Given the description of an element on the screen output the (x, y) to click on. 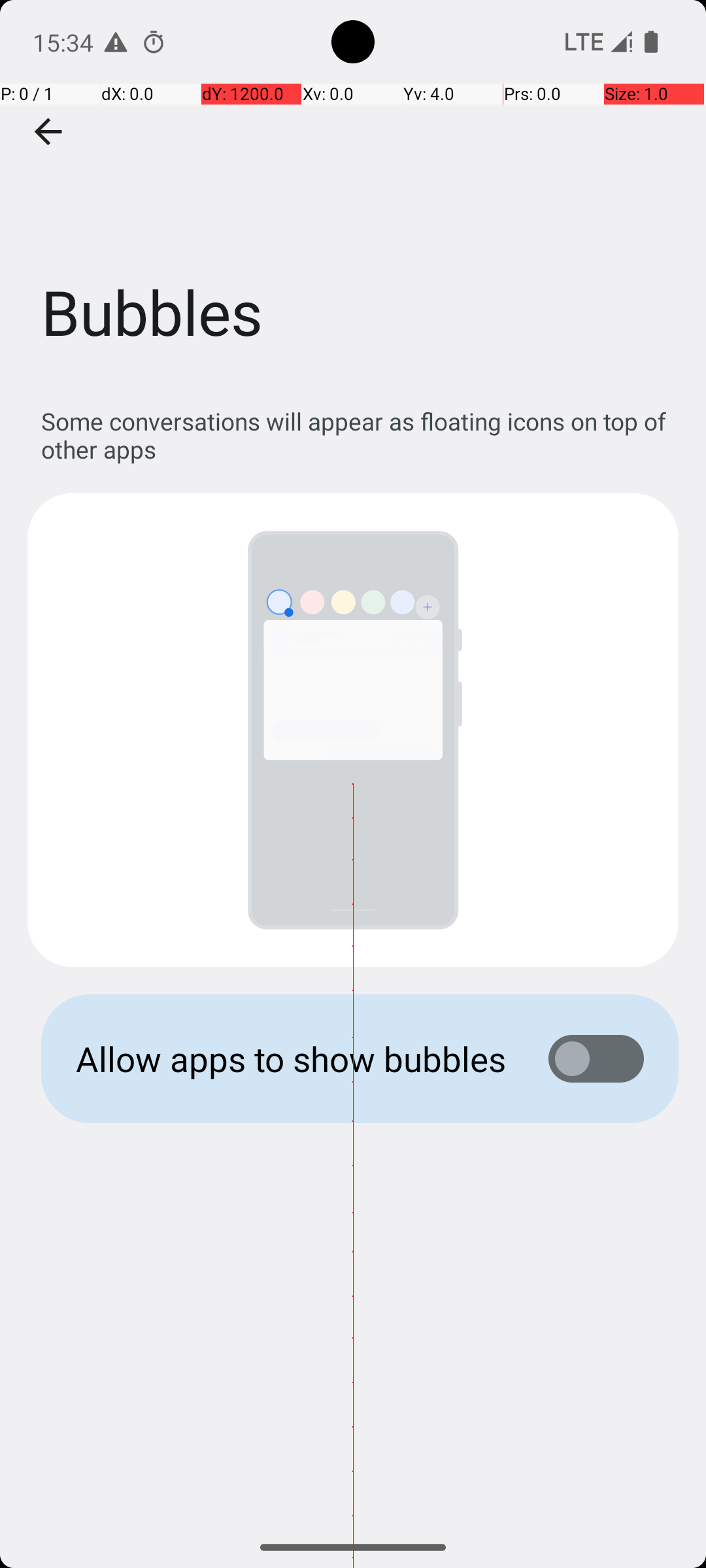
Some conversations will appear as floating icons on top of other apps Element type: android.widget.TextView (359, 434)
Allow apps to show bubbles Element type: android.widget.TextView (291, 1058)
